Given the description of an element on the screen output the (x, y) to click on. 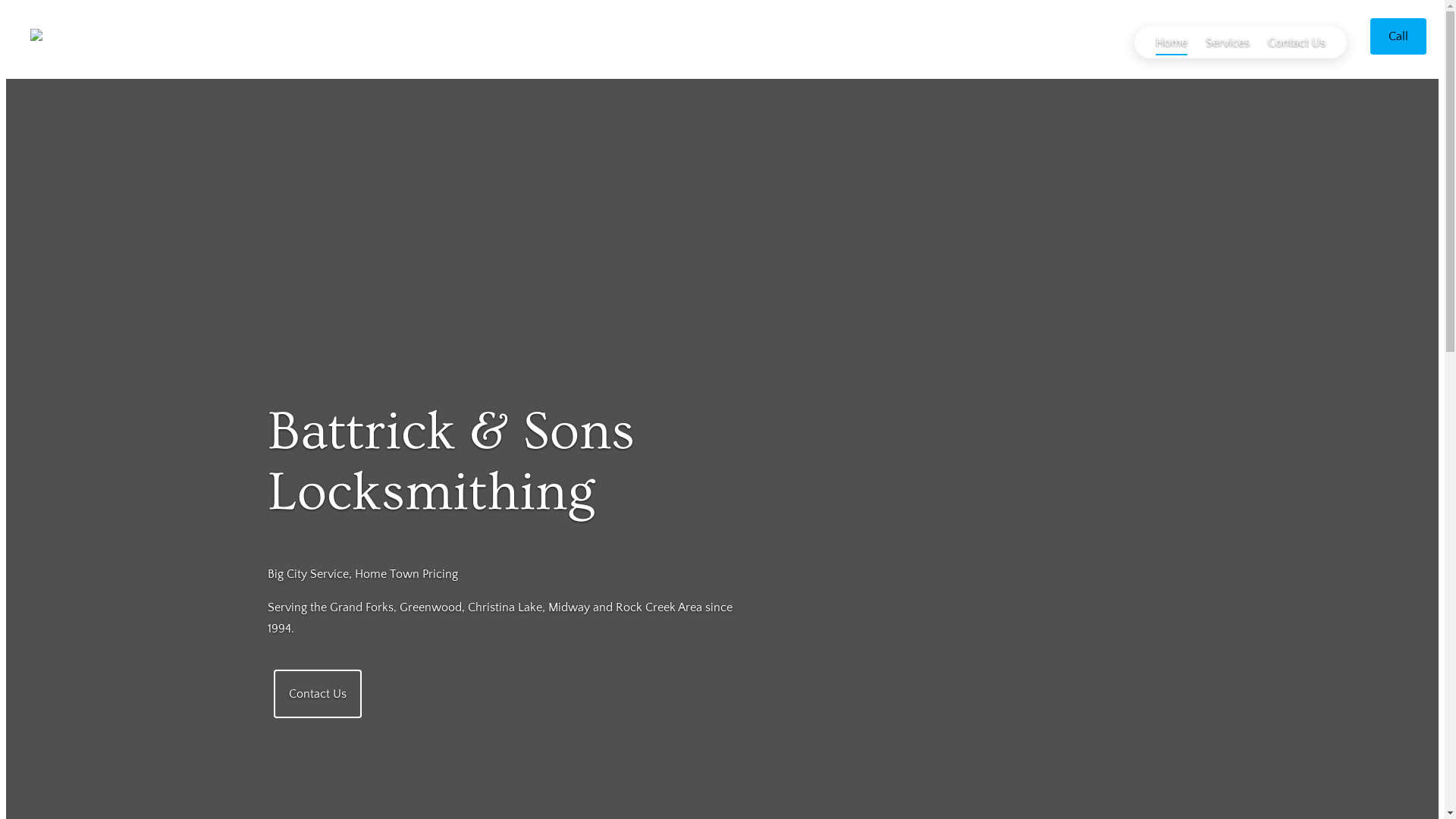
Contact Us Element type: text (1296, 42)
Services Element type: text (1227, 42)
Contact Us Element type: text (316, 693)
Call Element type: text (1398, 36)
Home Element type: text (1171, 42)
